Given the description of an element on the screen output the (x, y) to click on. 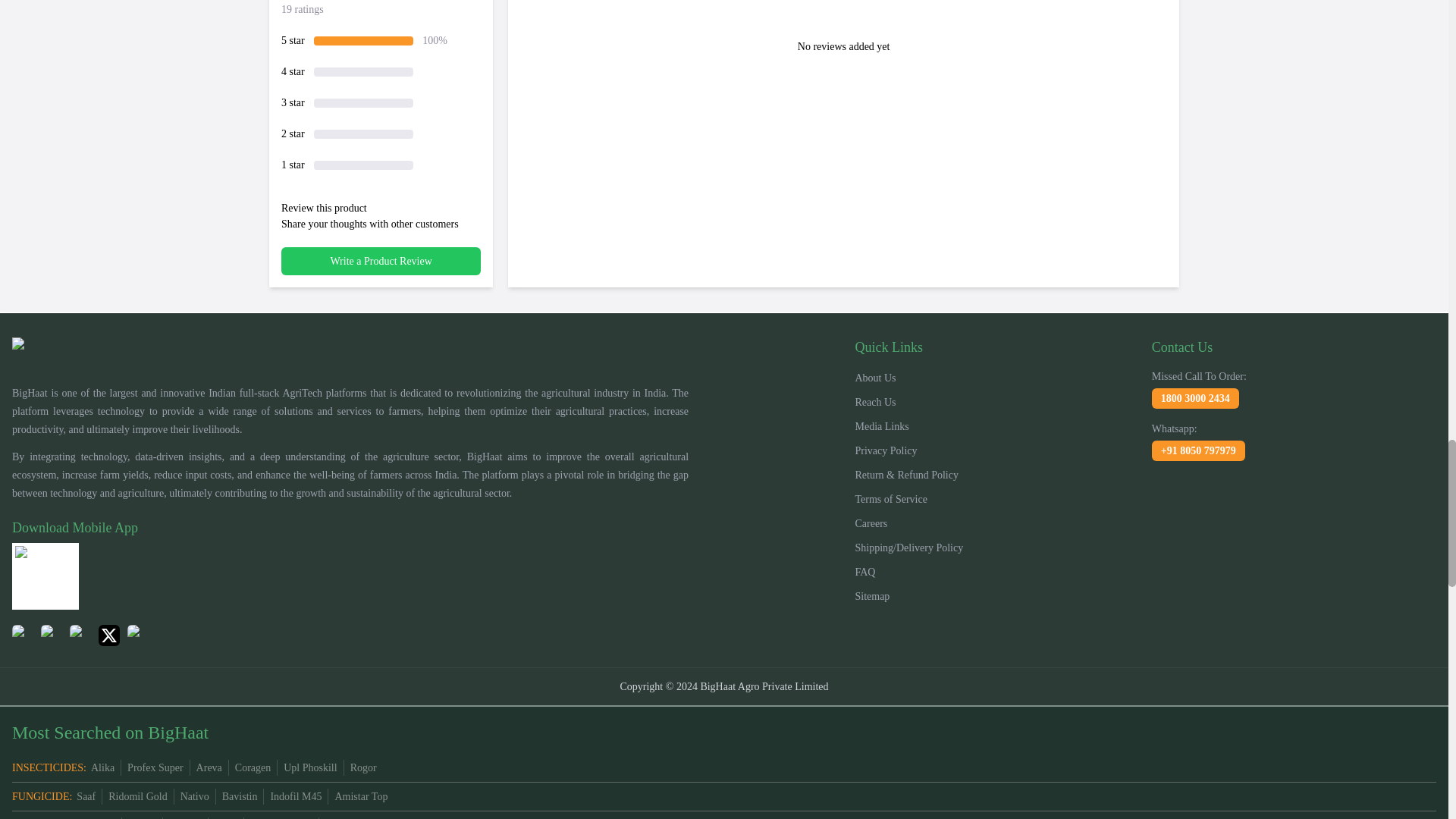
BigHaat.com on Facebook (51, 635)
BigHaat.com on Instagram (79, 635)
BigHaat.com on X (109, 635)
BigHaat.com on Instagram (22, 635)
BigHaat.com on Instagram (138, 635)
